Given the description of an element on the screen output the (x, y) to click on. 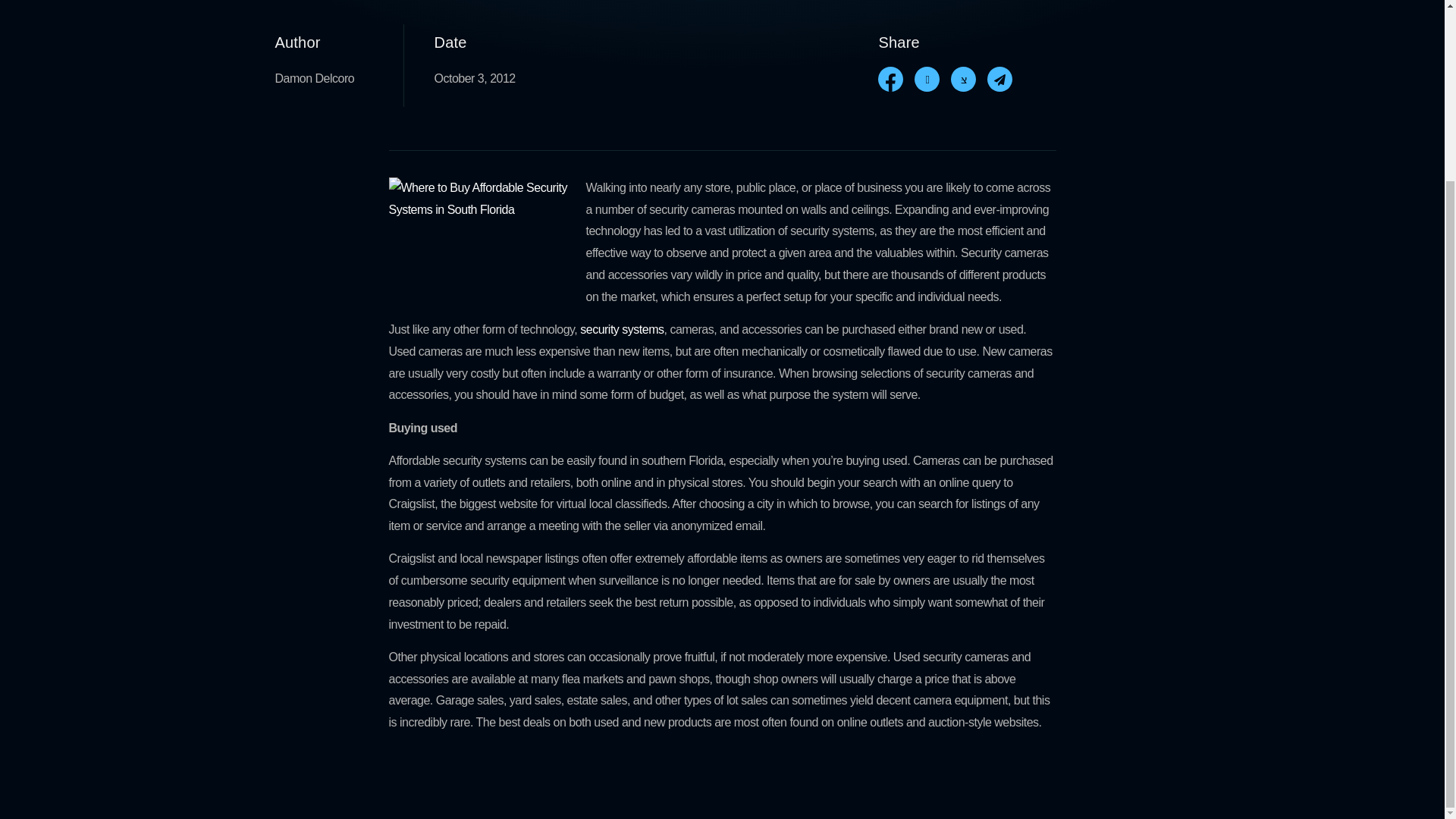
Where to Buy Affordable Security Systems in South Florida (480, 246)
